Given the description of an element on the screen output the (x, y) to click on. 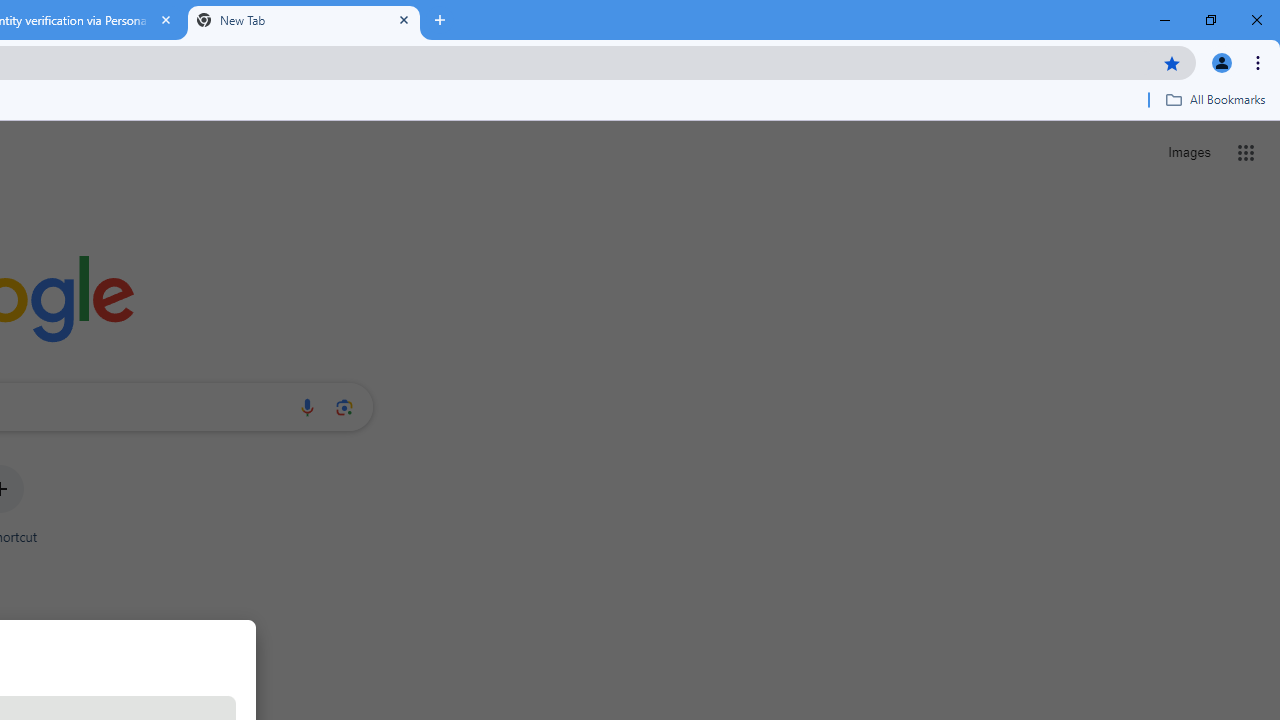
New Tab (304, 20)
